Given the description of an element on the screen output the (x, y) to click on. 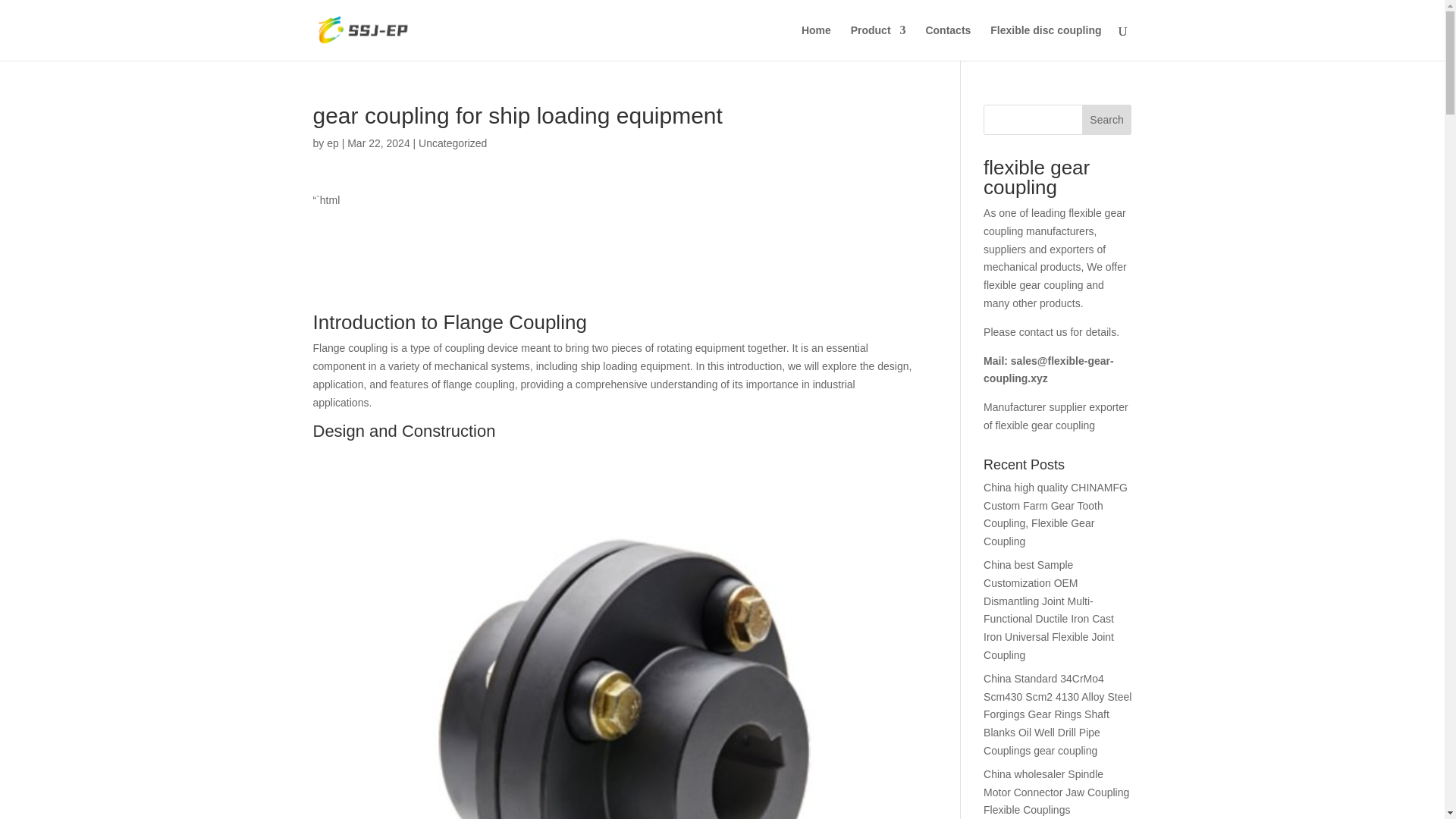
Search (1106, 119)
Product (877, 42)
Search (1106, 119)
Contacts (947, 42)
Posts by ep (332, 143)
Flexible disc coupling (1045, 42)
ep (332, 143)
